Given the description of an element on the screen output the (x, y) to click on. 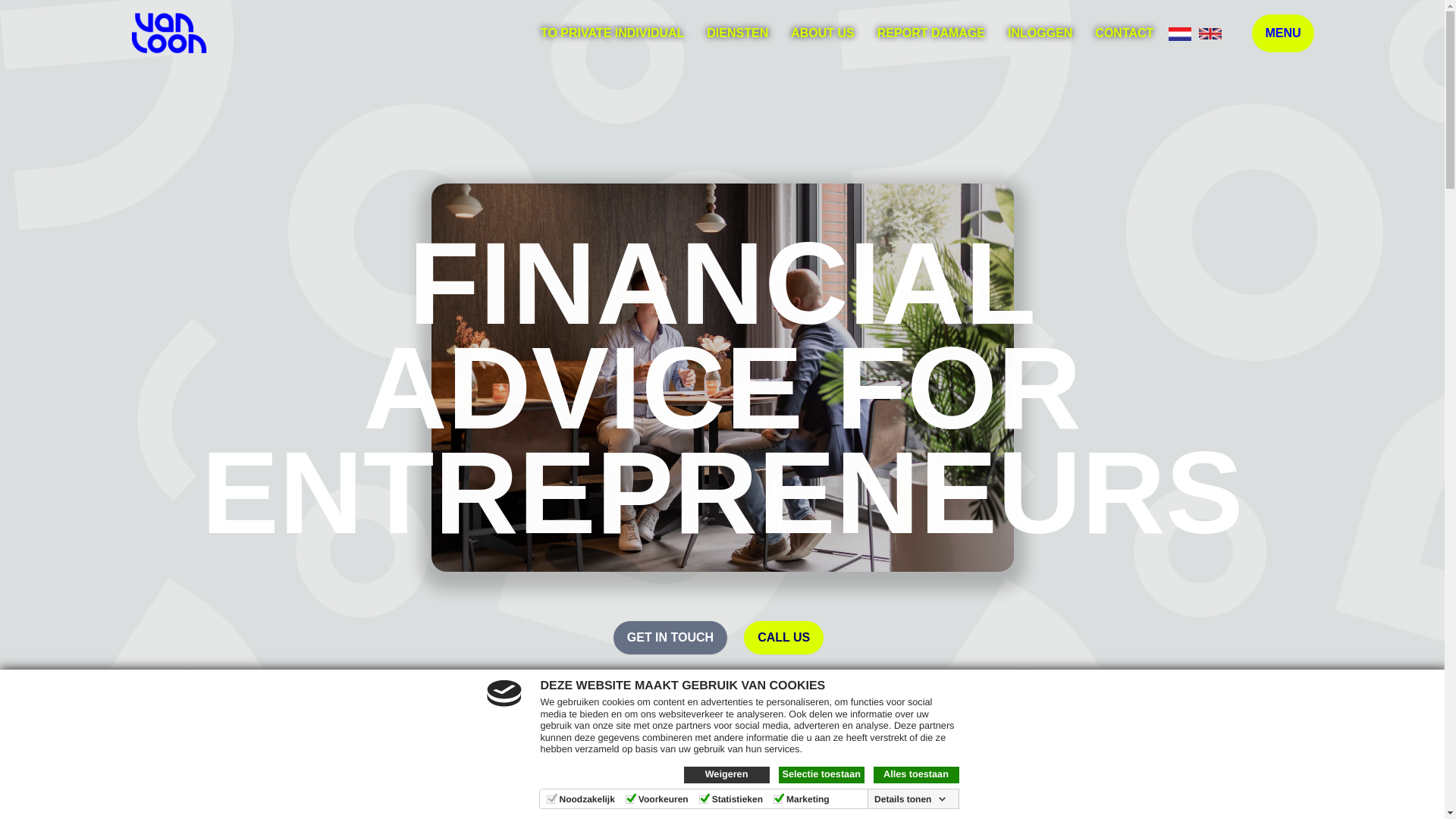
Alles toestaan (916, 774)
Selectie toestaan (820, 774)
SCROLL TO FIND OUT MORE (722, 703)
Details tonen (909, 799)
Weigeren (727, 774)
SCROLL TO FIND OUT MORE (722, 688)
